Given the description of an element on the screen output the (x, y) to click on. 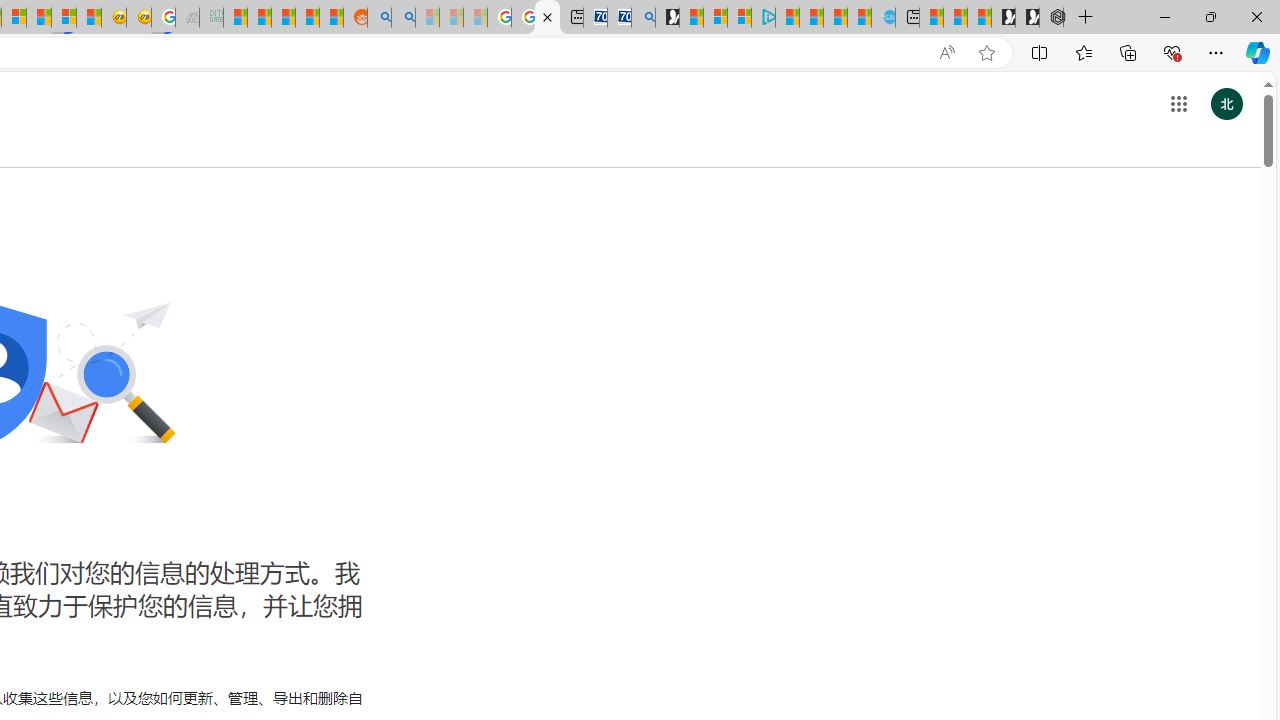
Student Loan Update: Forgiveness Program Ends This Month (306, 17)
Class: gb_E (1178, 103)
